Given the description of an element on the screen output the (x, y) to click on. 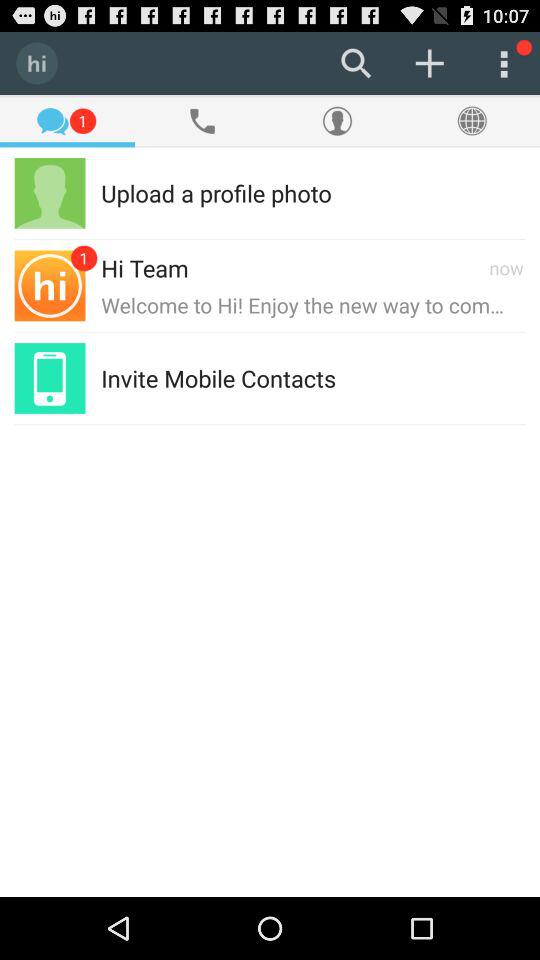
select the icon below the upload a profile (144, 267)
